Given the description of an element on the screen output the (x, y) to click on. 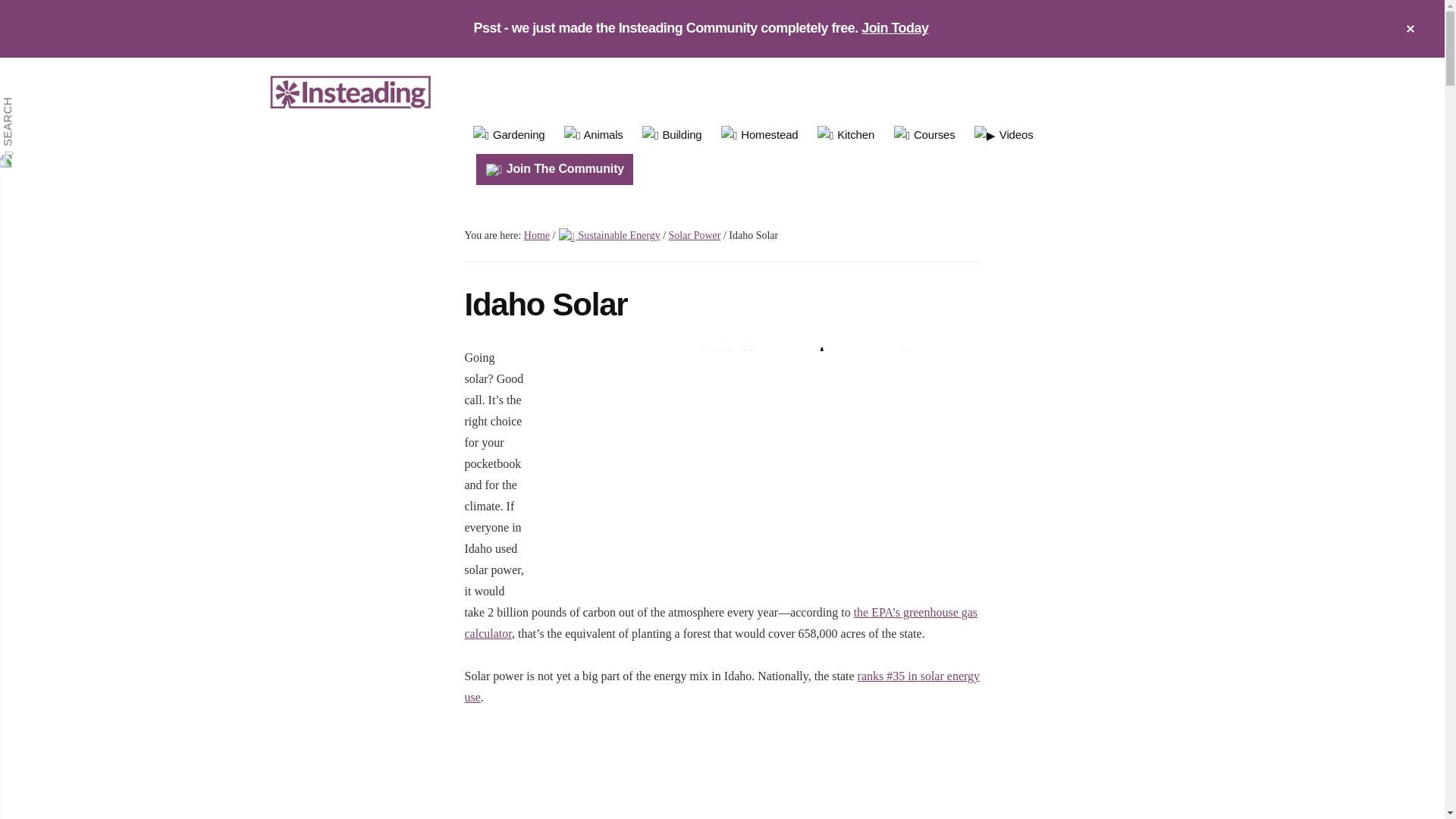
Building (671, 135)
SEARCH (38, 107)
Join Today (894, 28)
Gardening (507, 135)
Homestead (759, 135)
Kitchen (845, 135)
Animals (593, 135)
